Given the description of an element on the screen output the (x, y) to click on. 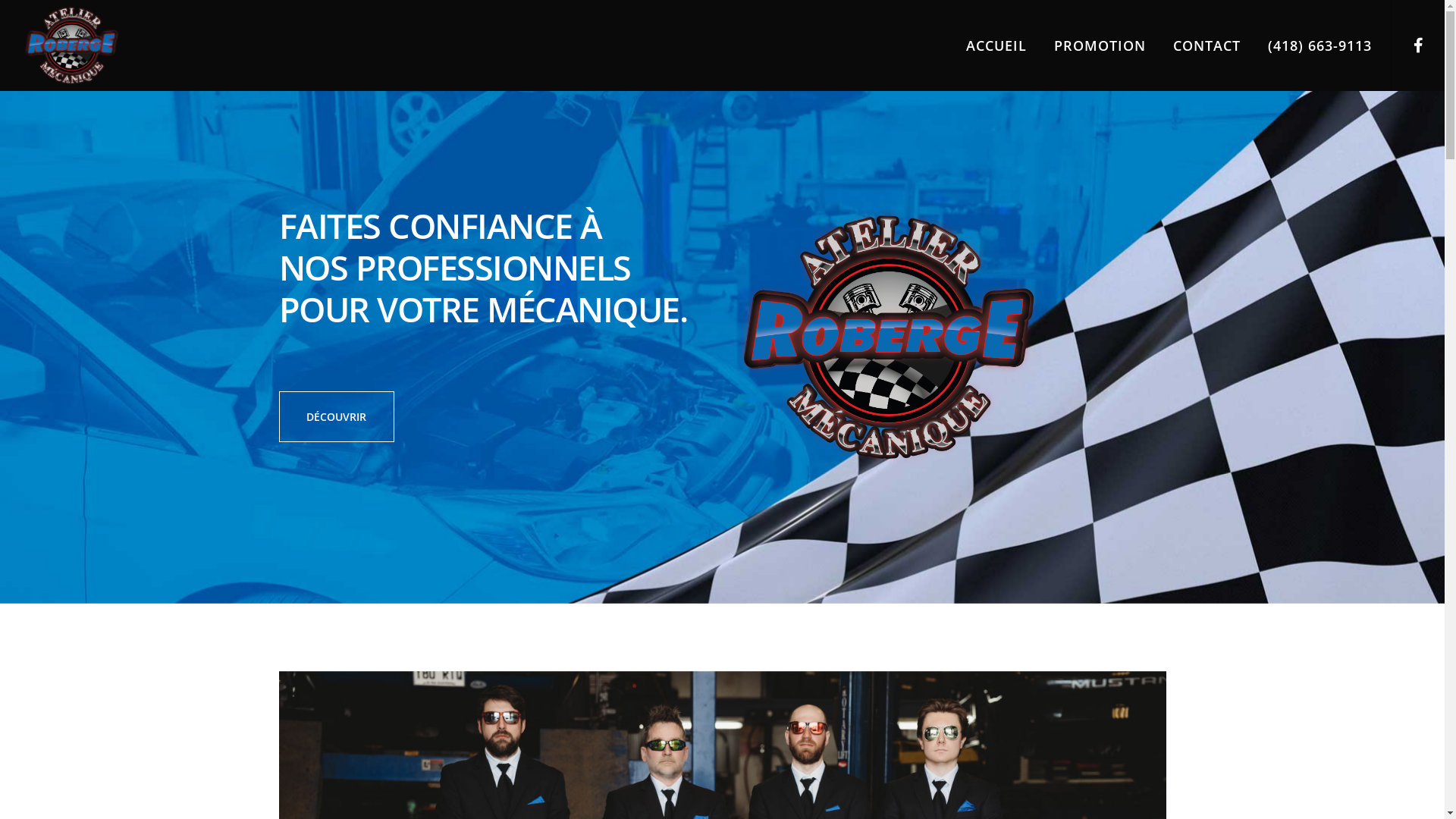
(418) 663-9113 Element type: text (1305, 45)
PROMOTION Element type: text (1085, 45)
ACCUEIL Element type: text (982, 45)
CONTACT Element type: text (1192, 45)
